Given the description of an element on the screen output the (x, y) to click on. 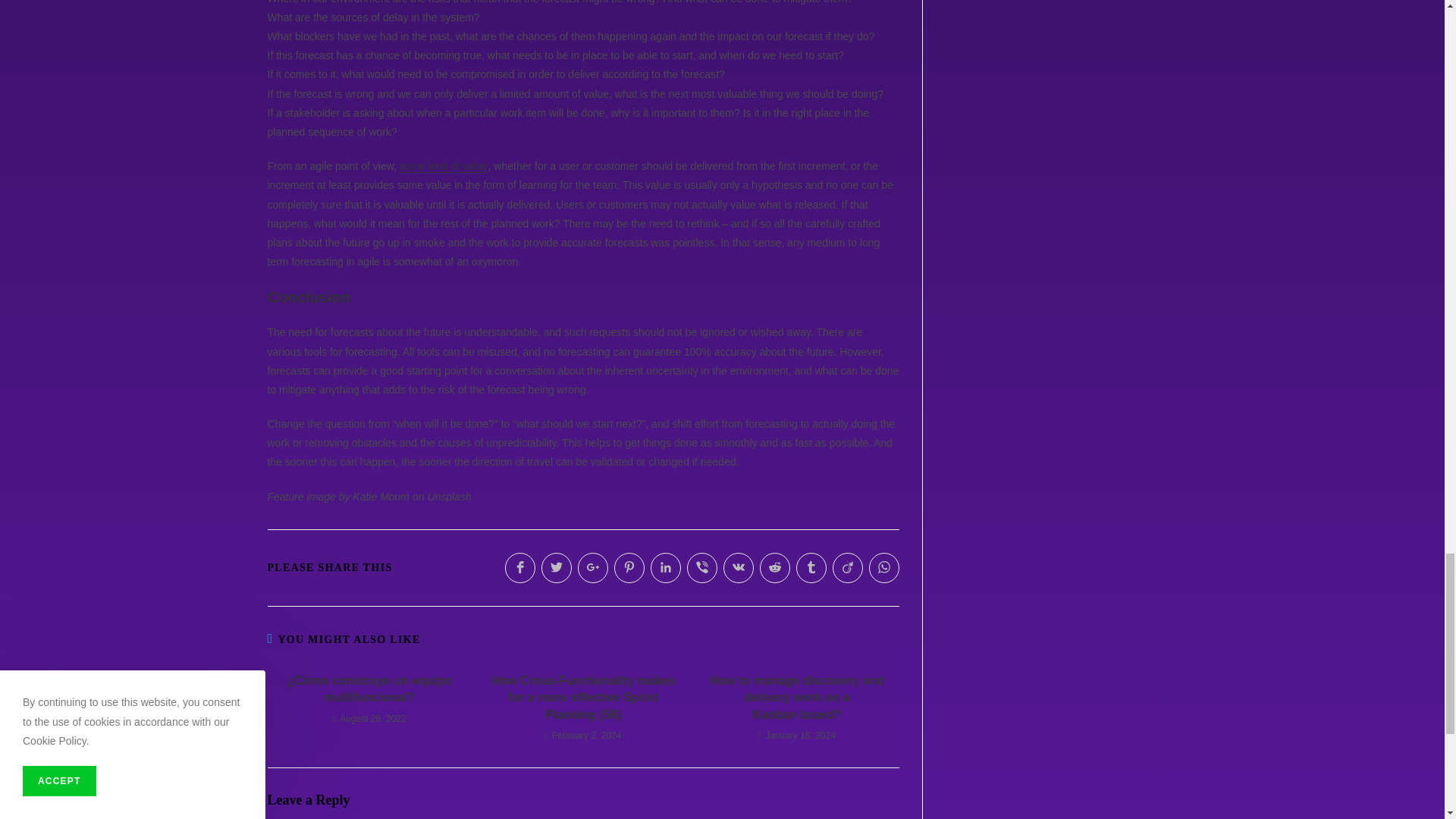
some kind of value (442, 165)
